Given the description of an element on the screen output the (x, y) to click on. 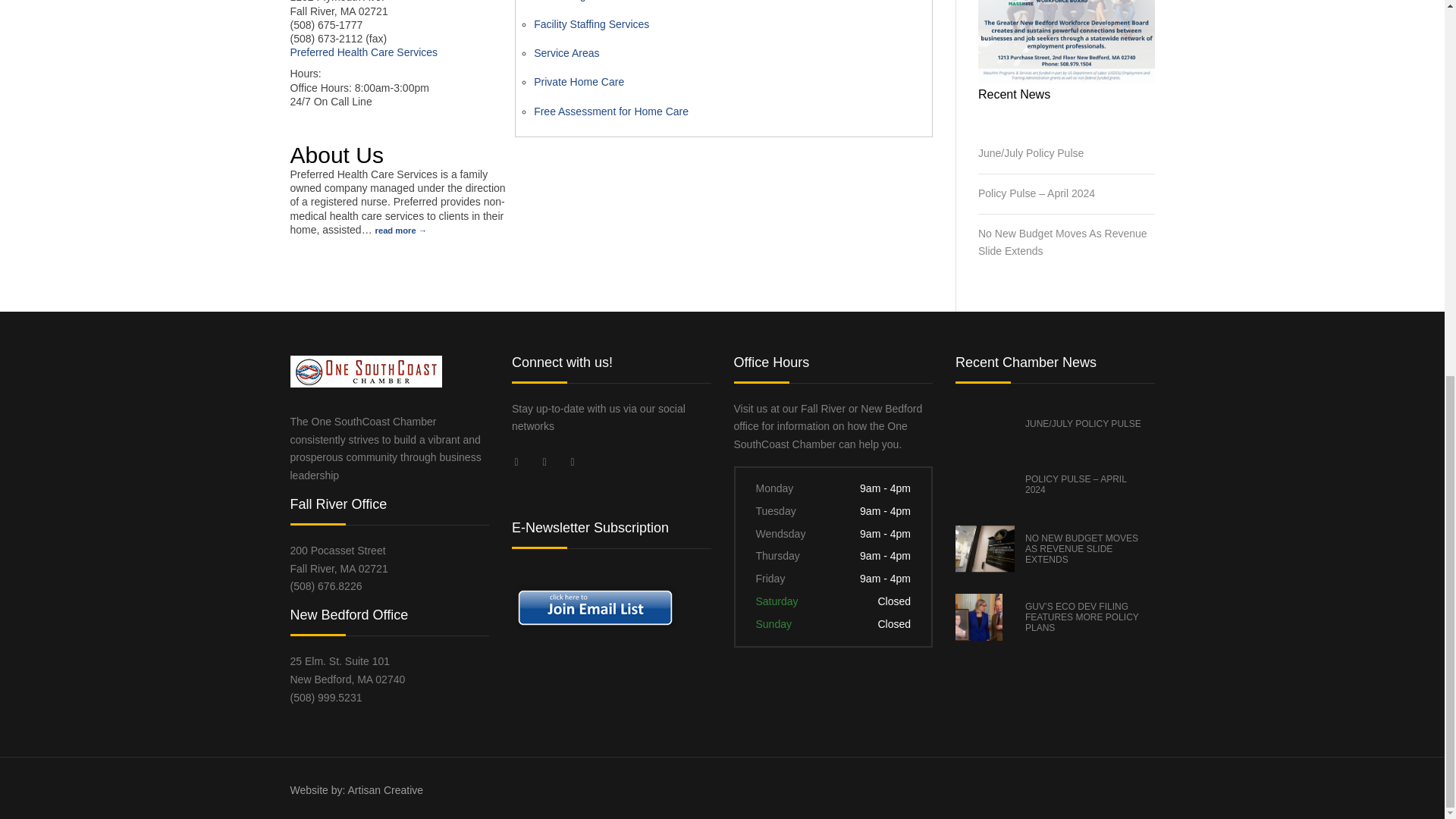
Visit the website of Preferred Health Care Services (363, 51)
